Given the description of an element on the screen output the (x, y) to click on. 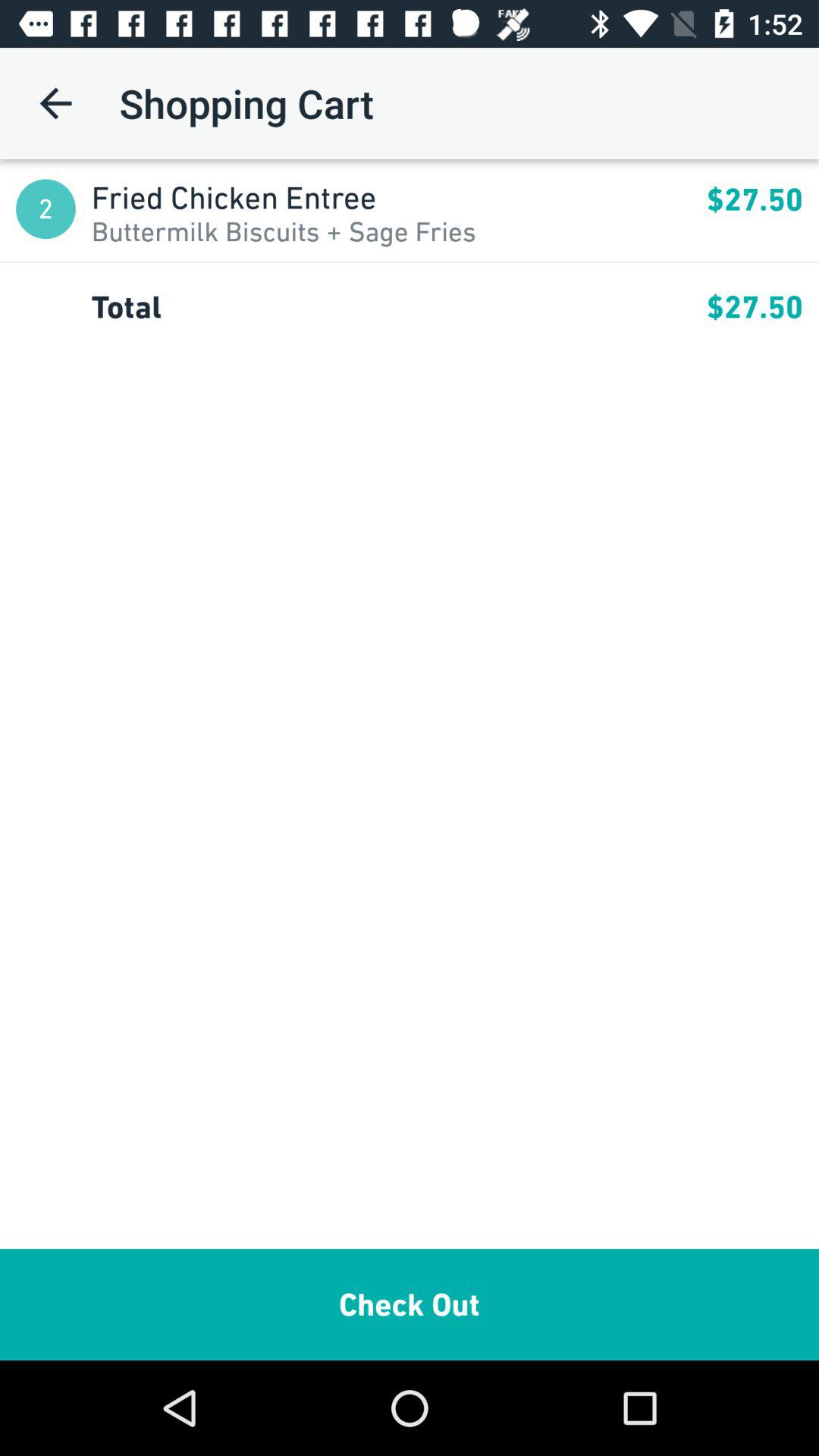
press the app next to shopping cart item (55, 103)
